Given the description of an element on the screen output the (x, y) to click on. 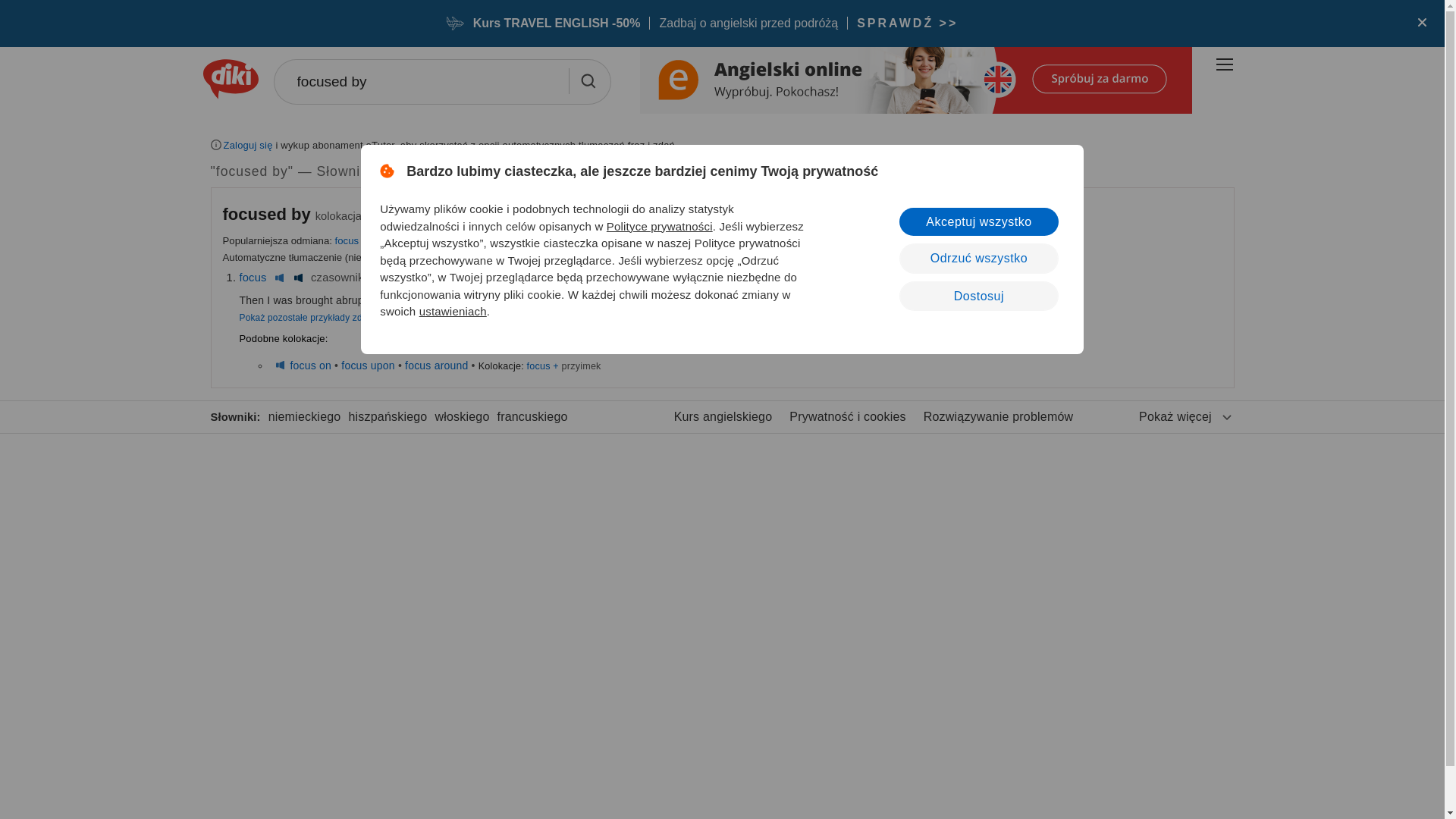
Szukaj (587, 80)
focus around (435, 365)
focus upon (367, 365)
British English (400, 277)
focus (253, 277)
focus by (353, 240)
focused by (441, 81)
American English (297, 277)
by (382, 277)
British English (278, 277)
focused by (441, 81)
Dostosuj (978, 296)
American English (419, 277)
focus on (310, 365)
focused by (266, 213)
